Given the description of an element on the screen output the (x, y) to click on. 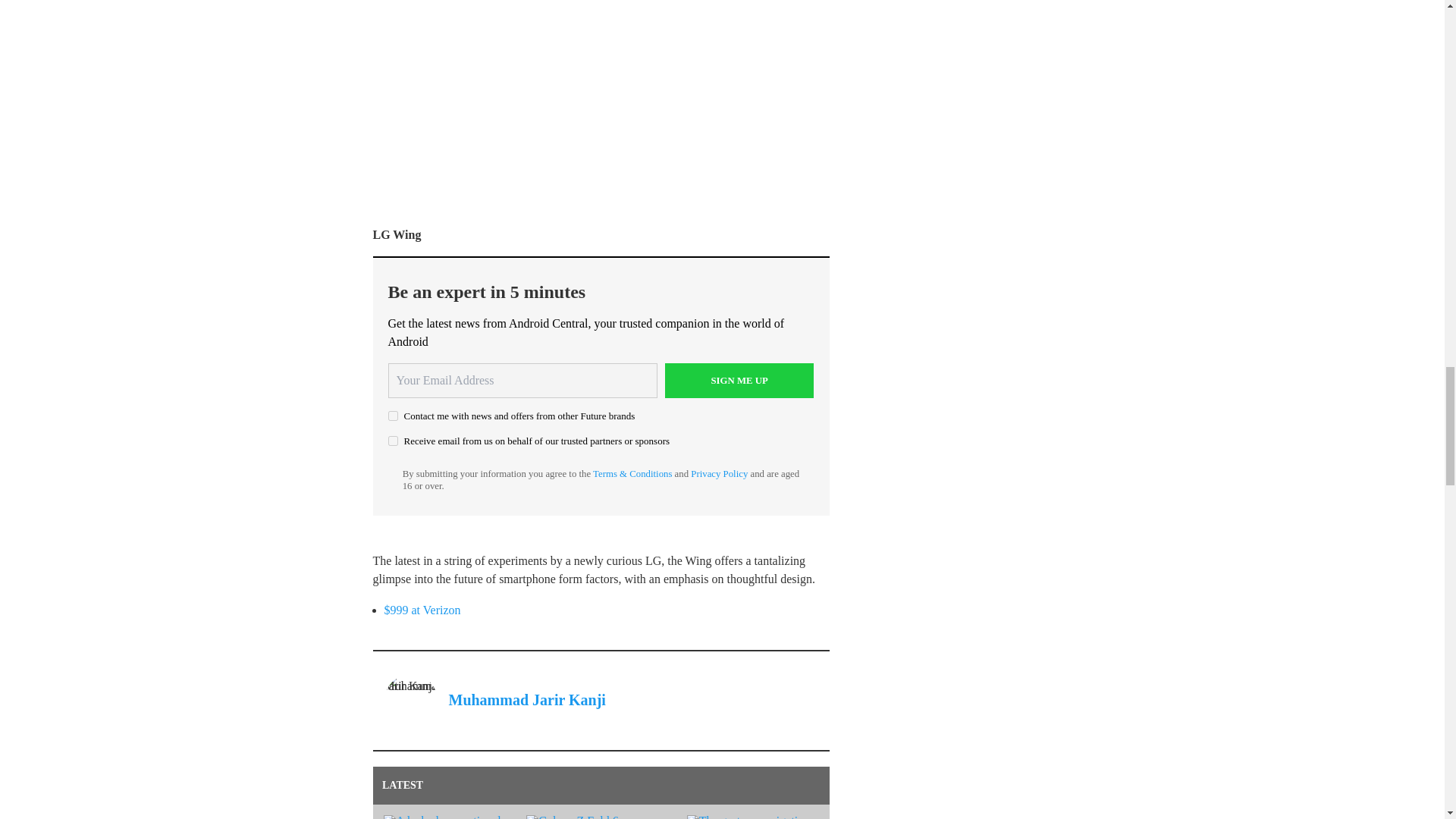
on (392, 415)
Sign me up (739, 380)
on (392, 440)
